Given the description of an element on the screen output the (x, y) to click on. 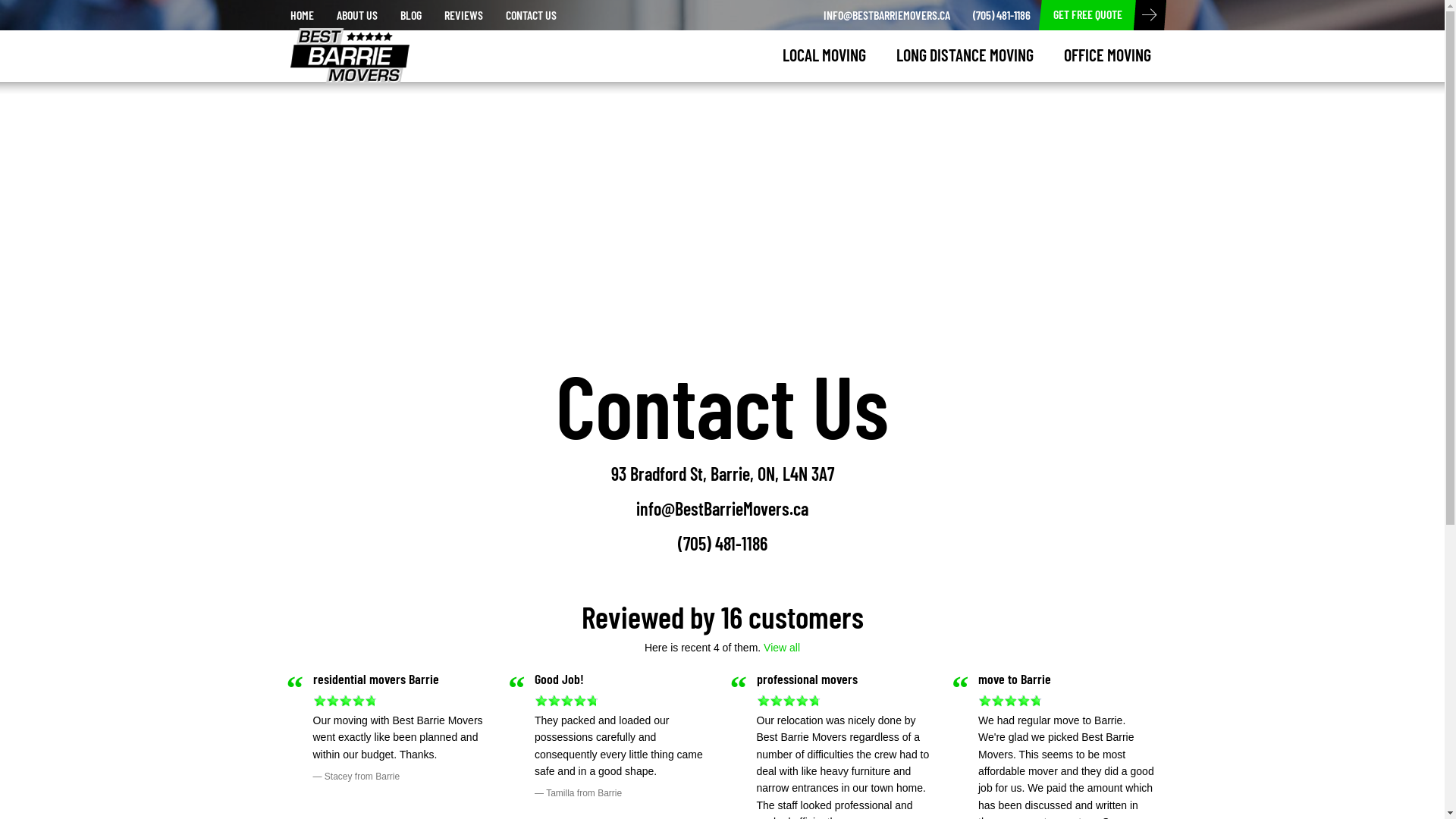
LONG DISTANCE MOVING Element type: text (964, 54)
GET FREE QUOTE Element type: text (1087, 15)
CONTACT US Element type: text (530, 15)
HOME Element type: text (302, 15)
Best Movers in Barrie Element type: hover (337, 46)
View all Element type: text (781, 647)
BLOG Element type: text (410, 15)
REVIEWS Element type: text (462, 15)
ABOUT US Element type: text (356, 15)
OFFICE MOVING Element type: text (1106, 54)
INFO@BESTBARRIEMOVERS.CA Element type: text (885, 15)
LOCAL MOVING Element type: text (824, 54)
(705) 481-1186 Element type: text (1001, 15)
